Given the description of an element on the screen output the (x, y) to click on. 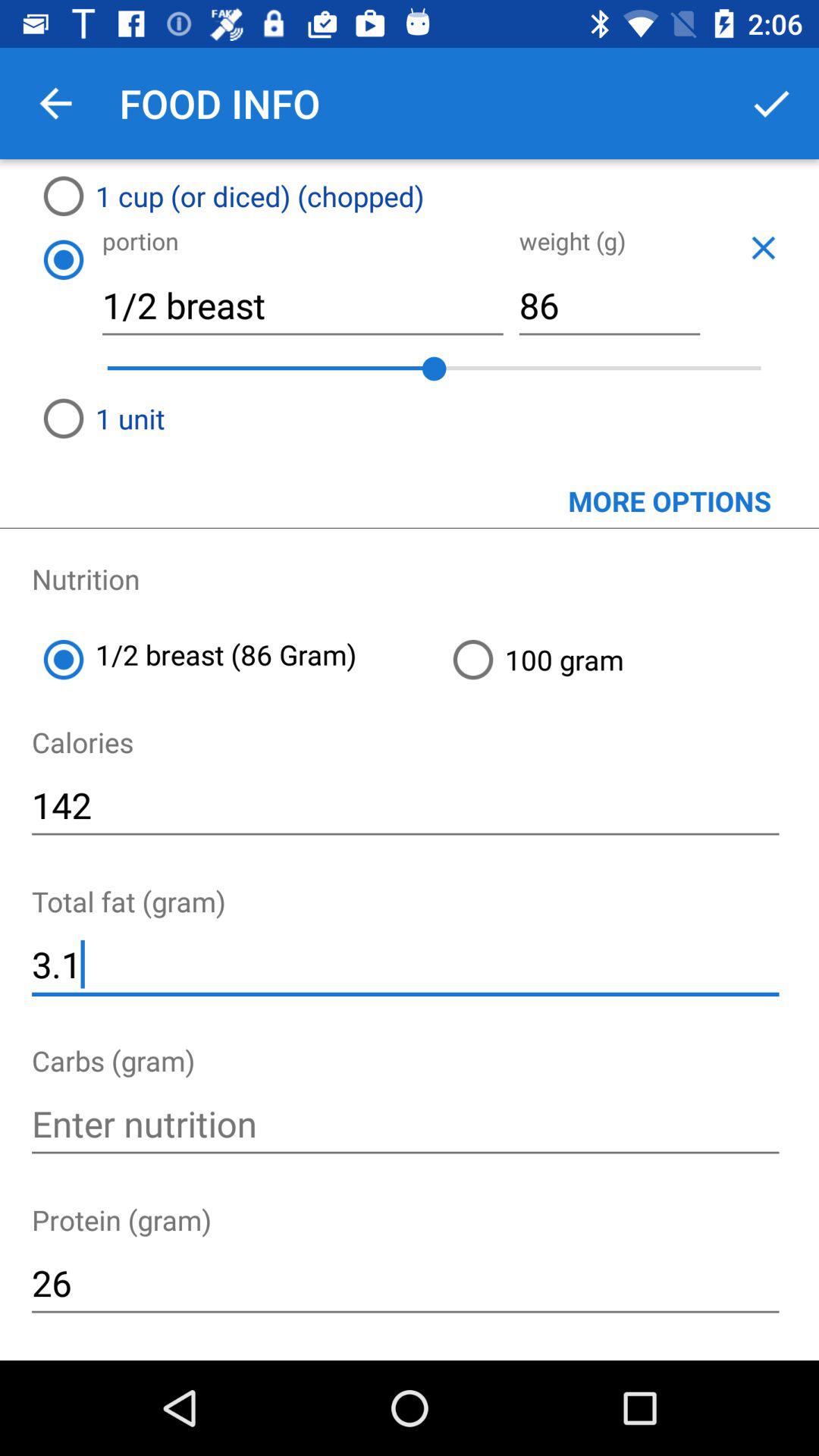
close page (763, 247)
